Given the description of an element on the screen output the (x, y) to click on. 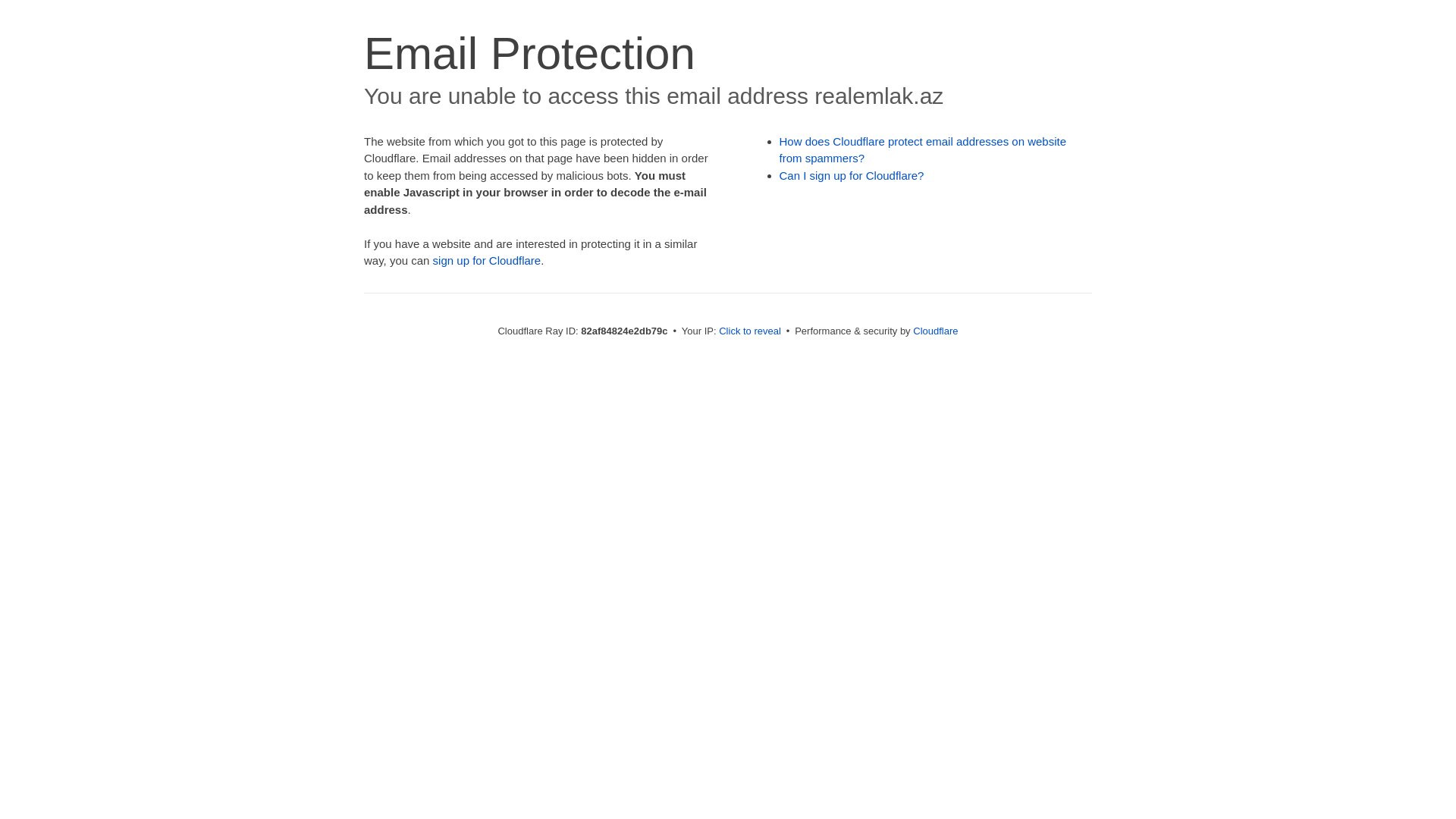
Click to reveal Element type: text (749, 330)
Cloudflare Element type: text (935, 330)
Can I sign up for Cloudflare? Element type: text (851, 175)
sign up for Cloudflare Element type: text (487, 260)
